Given the description of an element on the screen output the (x, y) to click on. 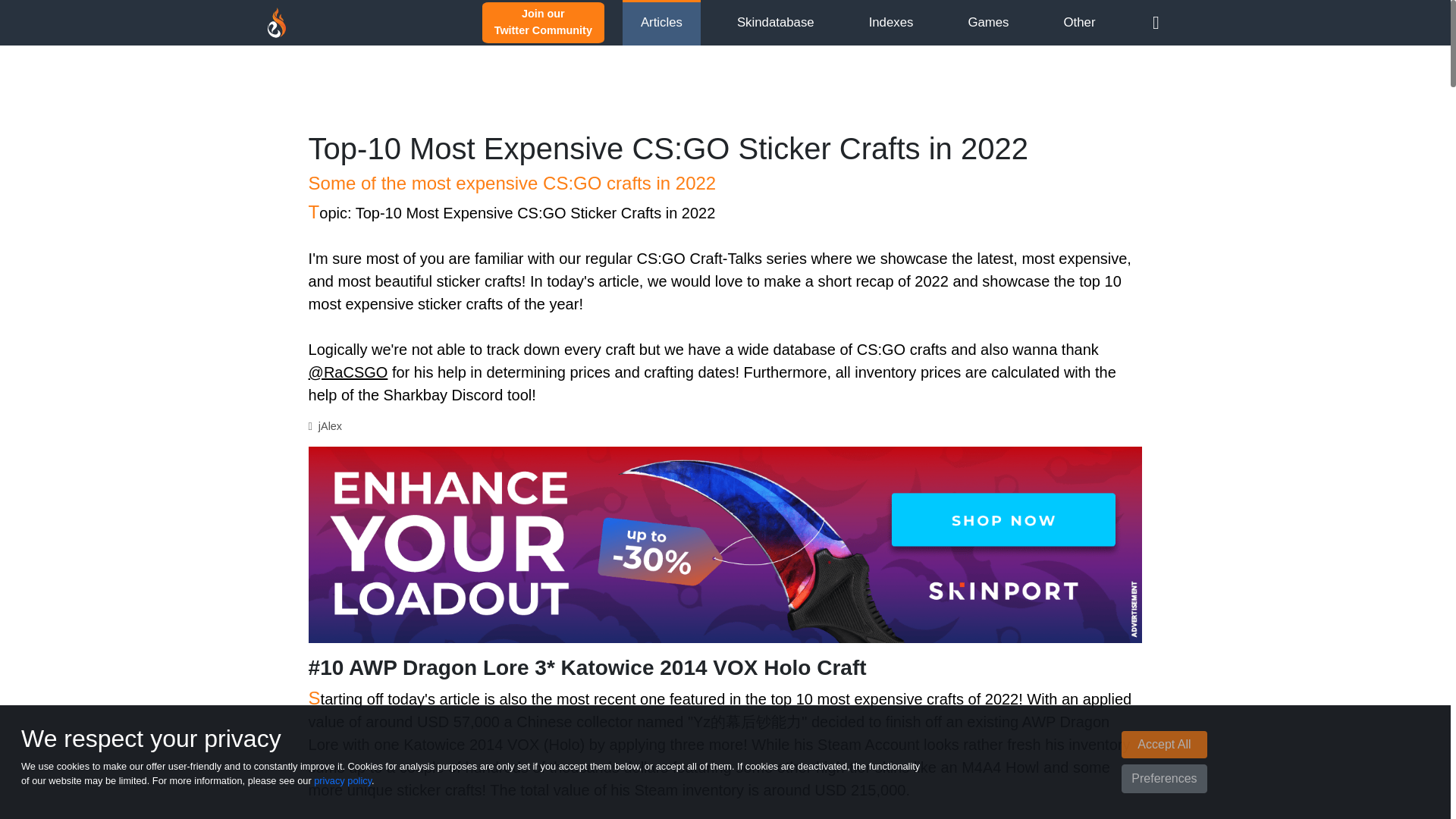
Accept All (1164, 744)
jAlex (330, 426)
Indexes (542, 21)
Skindatabase (891, 22)
Preferences (774, 22)
Games (1164, 778)
privacy policy (988, 22)
Articles (342, 780)
